Given the description of an element on the screen output the (x, y) to click on. 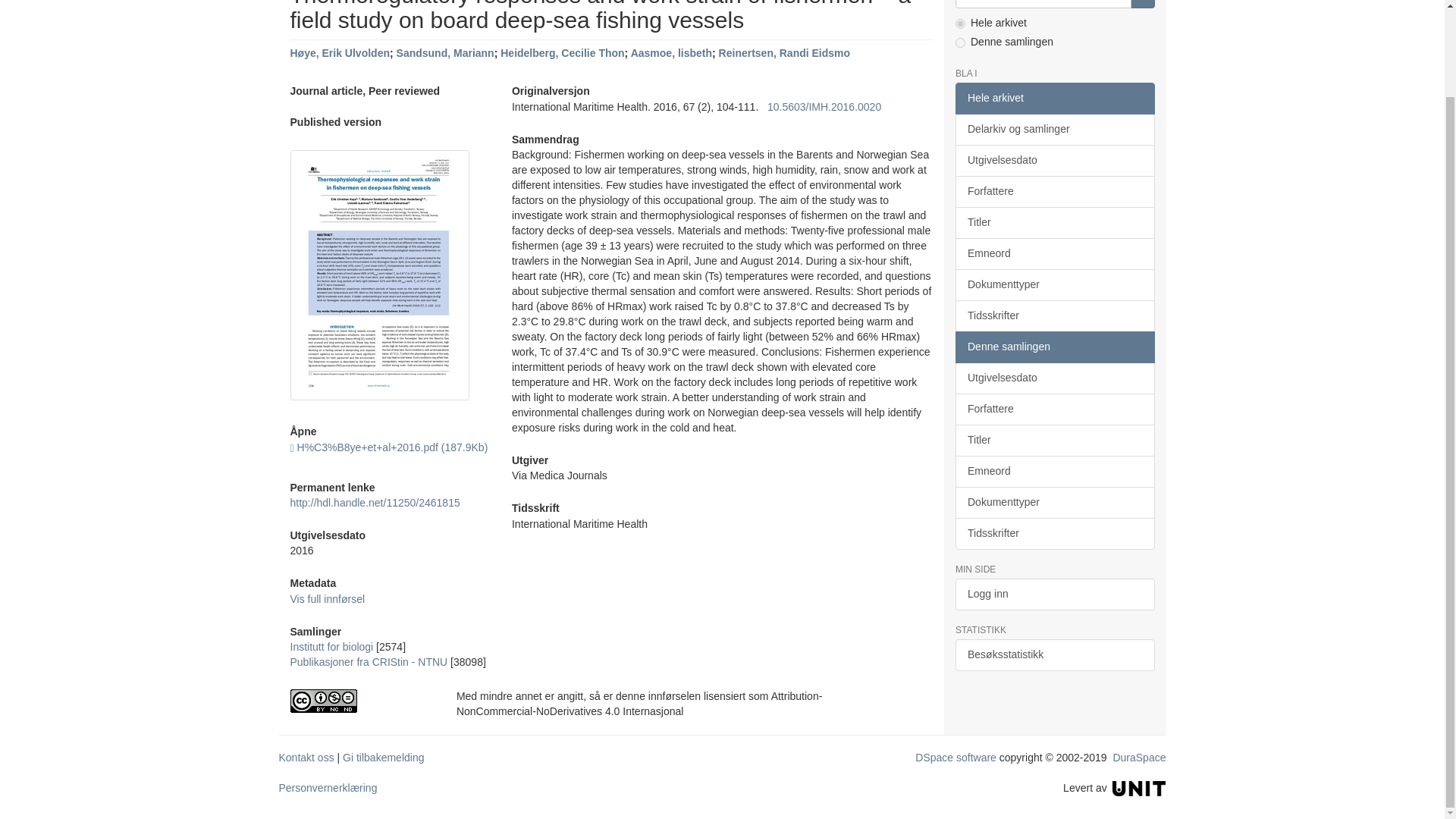
Reinertsen, Randi Eidsmo (784, 52)
Hele arkivet (1054, 98)
Publikasjoner fra CRIStin - NTNU (367, 662)
Institutt for biologi (330, 646)
Heidelberg, Cecilie Thon (562, 52)
Aasmoe, lisbeth (670, 52)
Sandsund, Mariann (445, 52)
Attribution-NonCommercial-NoDerivatives 4.0 Internasjonal (360, 700)
Unit (1139, 787)
